Given the description of an element on the screen output the (x, y) to click on. 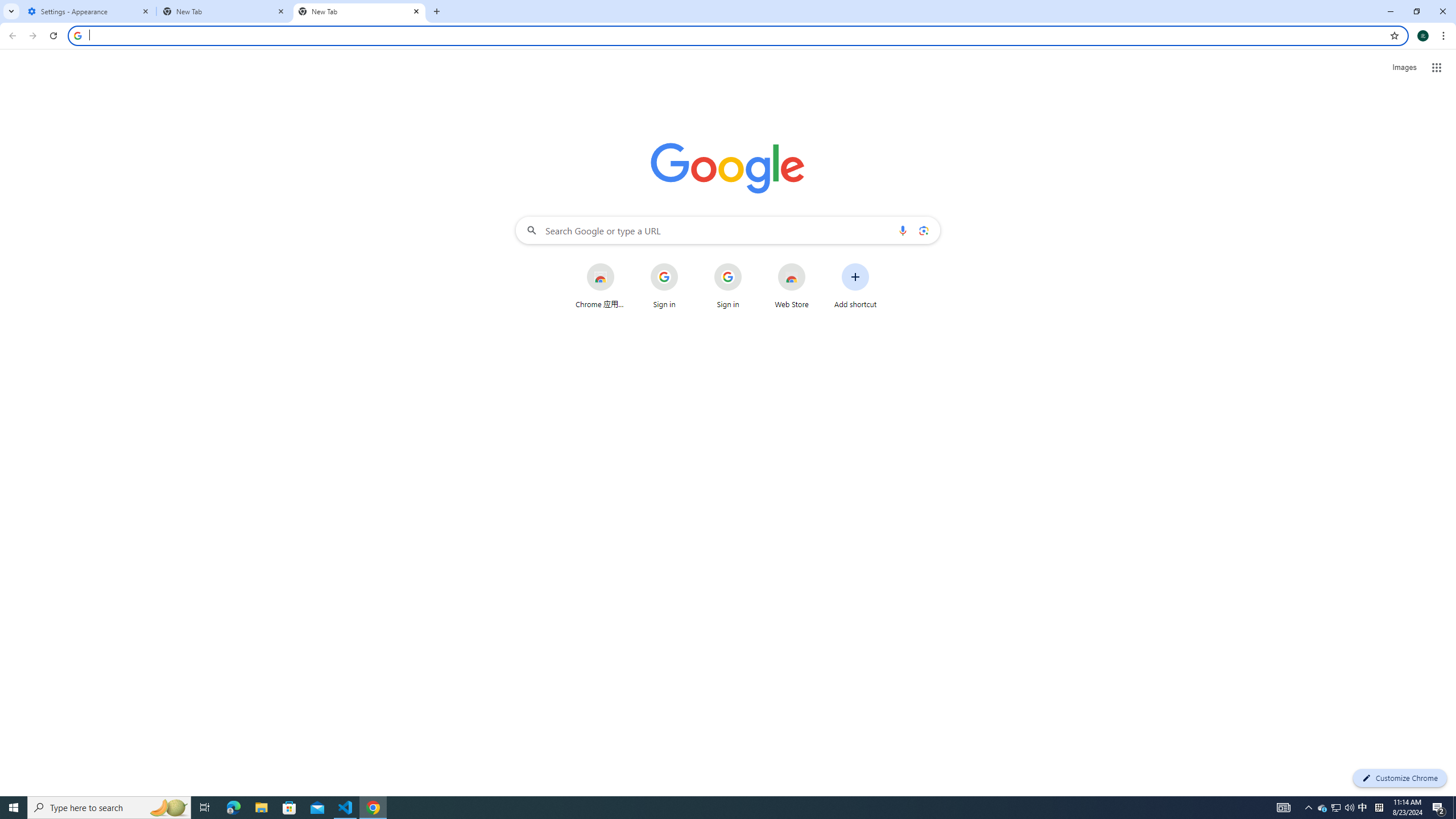
More actions for Sign in shortcut (750, 264)
New Tab (359, 11)
Settings - Appearance (88, 11)
New Tab (224, 11)
